Given the description of an element on the screen output the (x, y) to click on. 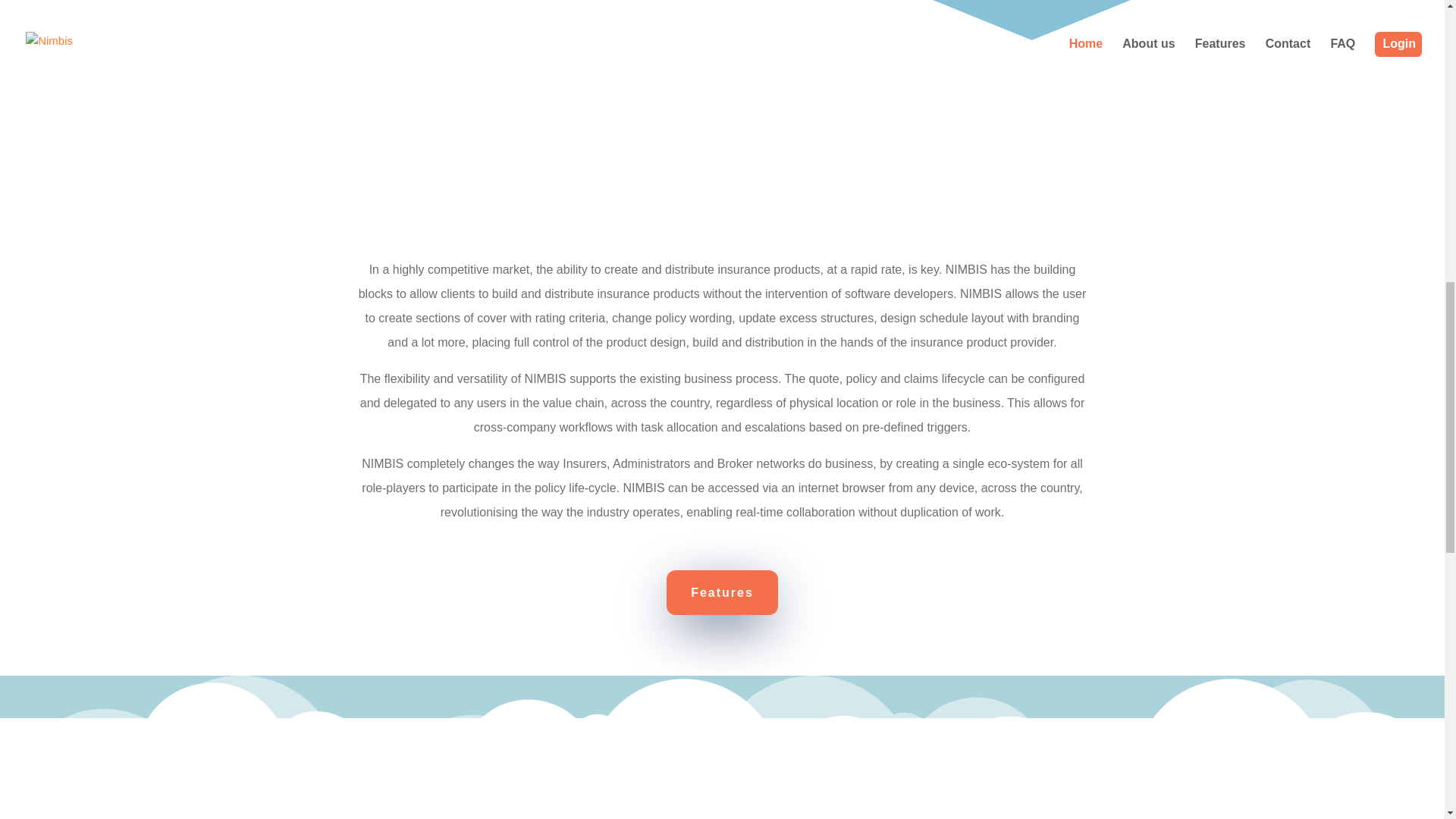
Features (721, 592)
